Given the description of an element on the screen output the (x, y) to click on. 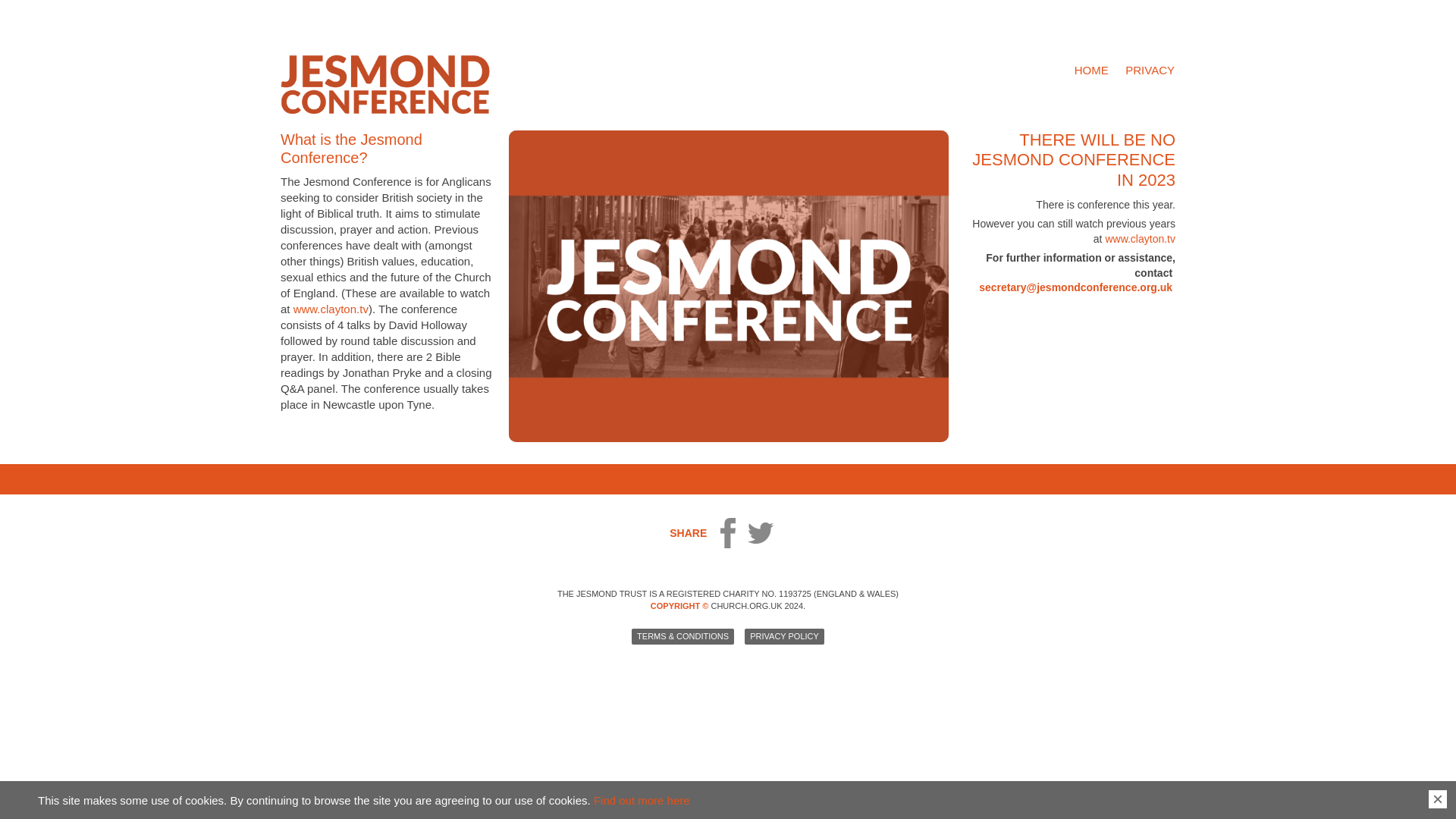
HOME (1091, 70)
Facebook (727, 531)
PRIVACY (1149, 70)
www.clayton.tv (331, 308)
Twitter (760, 532)
www.clayton.tv (1139, 238)
PRIVACY POLICY (784, 636)
